Given the description of an element on the screen output the (x, y) to click on. 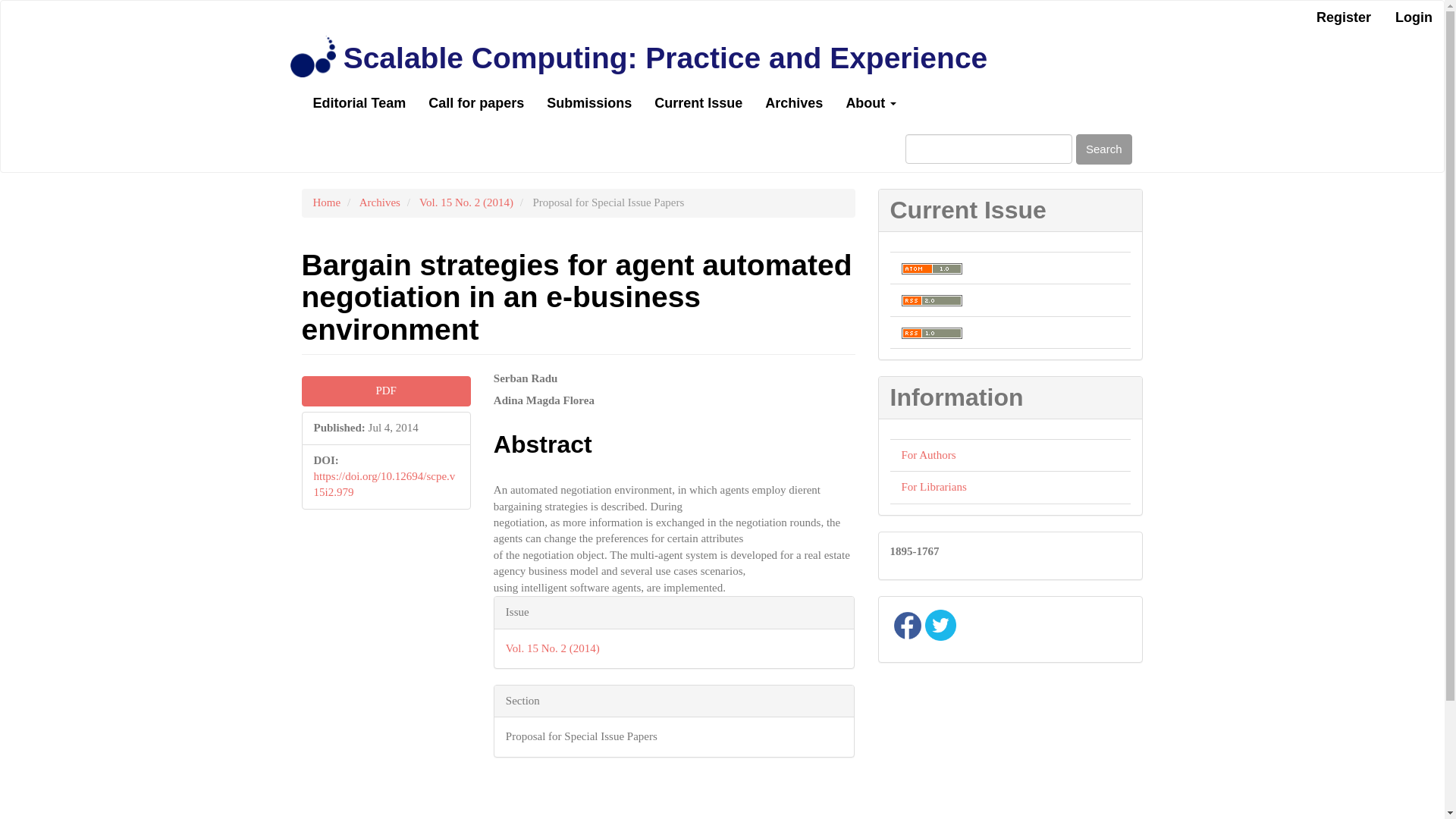
Archives (794, 103)
Archives (379, 202)
Submissions (589, 103)
Call for papers (475, 103)
Register (1342, 18)
Login (1414, 18)
Editorial Team (359, 103)
Current Issue (698, 103)
For Librarians (933, 486)
For Authors (928, 454)
